Given the description of an element on the screen output the (x, y) to click on. 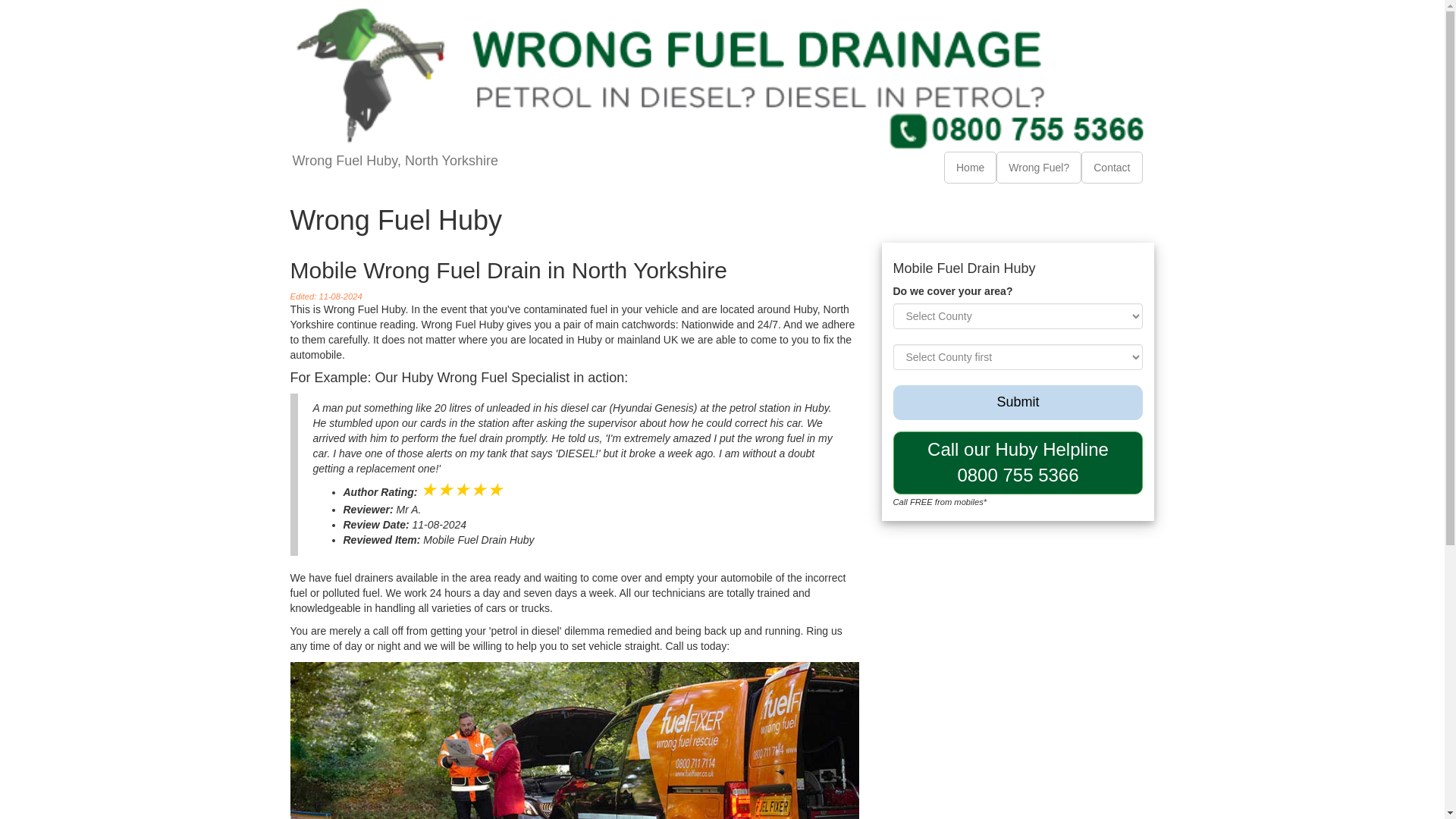
Home (969, 167)
Contact (1111, 167)
Wrong Fuel Huby, North Yorkshire (395, 170)
Wrong Fuel? (1038, 167)
Submit (1017, 402)
